Given the description of an element on the screen output the (x, y) to click on. 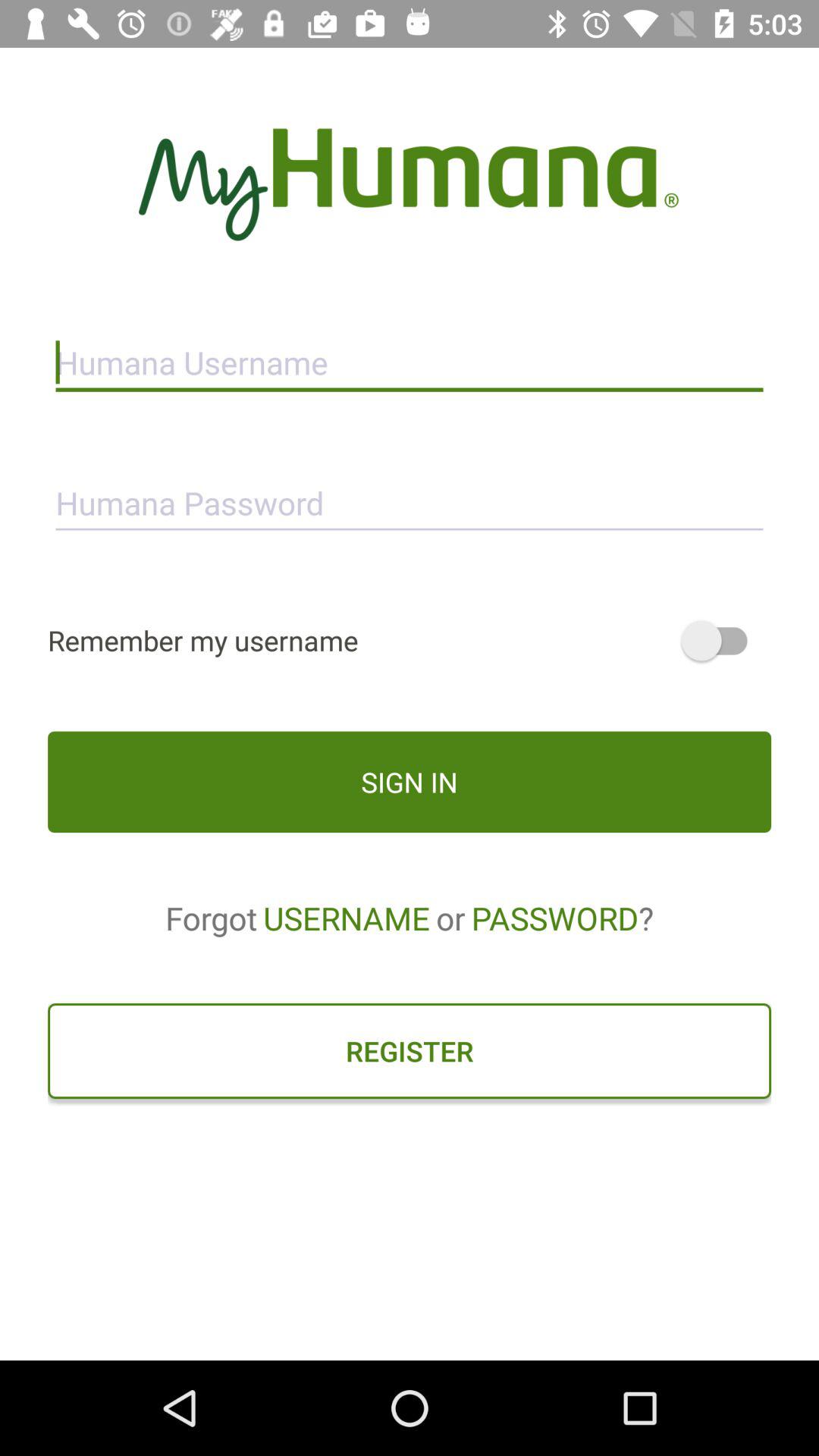
flip until the remember my username (409, 640)
